Given the description of an element on the screen output the (x, y) to click on. 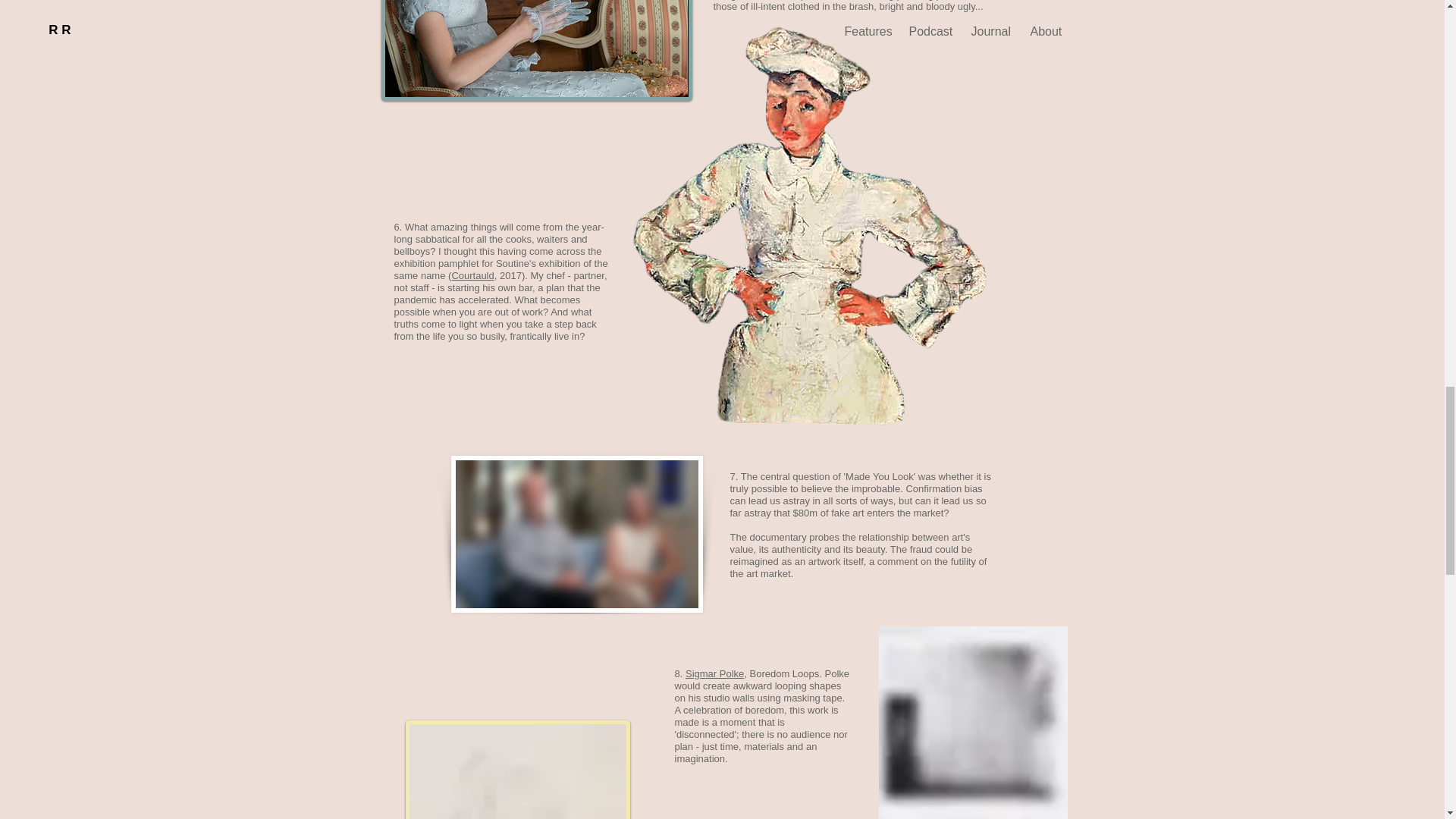
Sigmar Polke (714, 673)
Courtauld (472, 275)
